Given the description of an element on the screen output the (x, y) to click on. 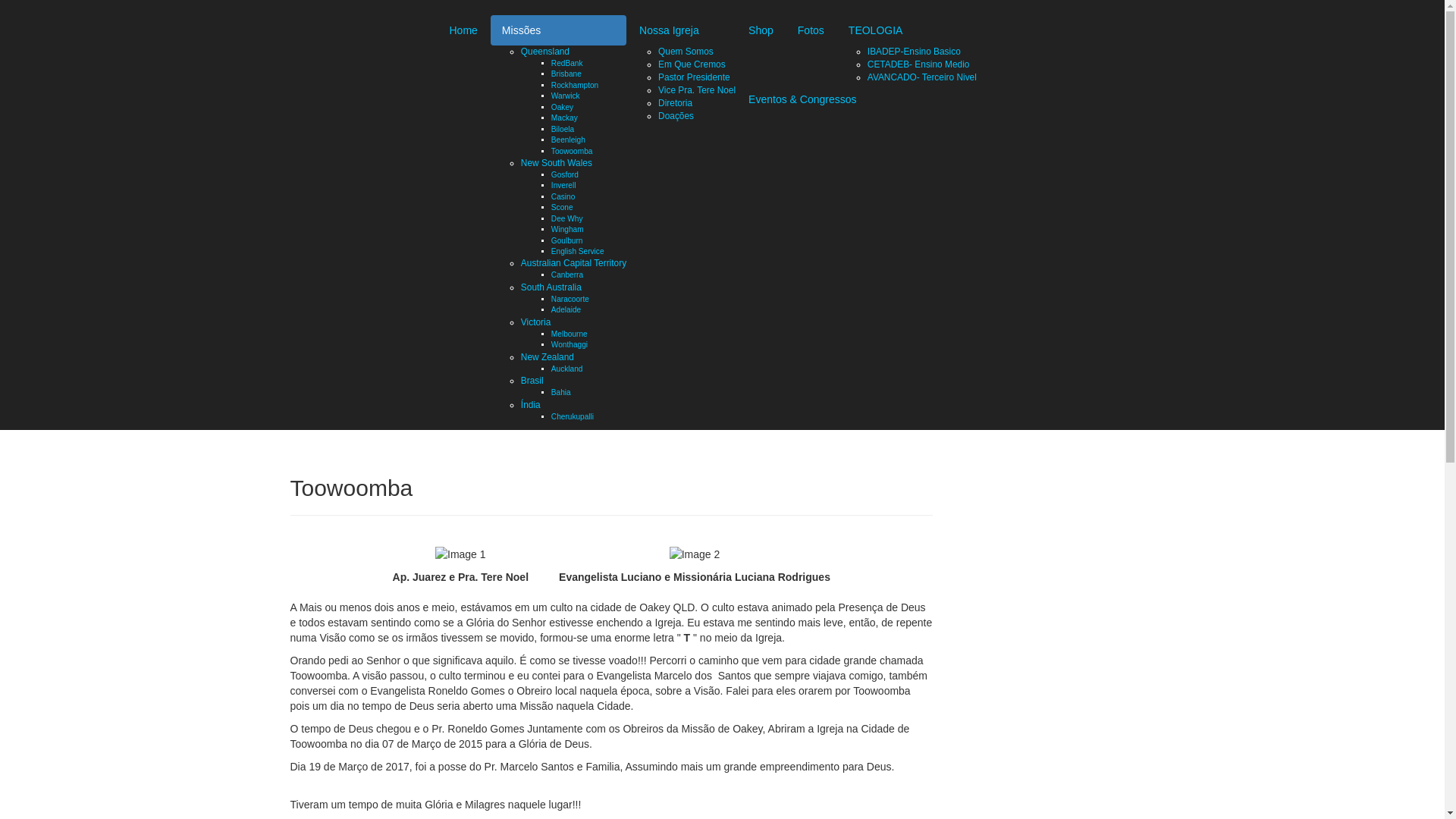
Diretoria Element type: text (675, 102)
Goulburn Element type: text (567, 240)
Inverell Element type: text (563, 185)
Bahia Element type: text (561, 392)
Rockhampton Element type: text (574, 85)
Casino Element type: text (562, 196)
TEOLOGIA Element type: text (906, 30)
Nossa Igreja Element type: text (681, 30)
Biloela Element type: text (562, 129)
Adelaide Element type: text (565, 309)
Eventos & Congressos Element type: text (802, 99)
Vice Pra. Tere Noel Element type: text (696, 89)
Home Element type: text (463, 30)
Fotos Element type: text (810, 30)
Wonthaggi Element type: text (569, 344)
Brasil Element type: text (531, 380)
New South Wales Element type: text (556, 162)
South Australia Element type: text (550, 287)
RedBank Element type: text (567, 63)
Shop Element type: text (760, 30)
Cherukupalli Element type: text (572, 416)
Oakey Element type: text (562, 107)
Victoria Element type: text (535, 321)
English Service Element type: text (577, 251)
Australian Capital Territory Element type: text (573, 262)
Dee Why Element type: text (567, 218)
AVANCADO- Terceiro Nivel Element type: text (921, 77)
Auckland Element type: text (567, 368)
Gosford Element type: text (564, 174)
Naracoorte Element type: text (570, 298)
Canberra Element type: text (567, 274)
Em Que Cremos Element type: text (691, 64)
Scone Element type: text (562, 207)
CETADEB- Ensino Medio Element type: text (918, 64)
Melbourne Element type: text (569, 333)
Mackay Element type: text (564, 117)
Toowoomba Element type: text (572, 151)
IBADEP-Ensino Basico Element type: text (913, 51)
Pastor Presidente Element type: text (694, 77)
Warwick Element type: text (565, 95)
Quem Somos Element type: text (685, 51)
Queensland Element type: text (544, 51)
Beenleigh Element type: text (568, 139)
Brisbane Element type: text (566, 73)
New Zealand Element type: text (547, 356)
Wingham Element type: text (567, 229)
